Given the description of an element on the screen output the (x, y) to click on. 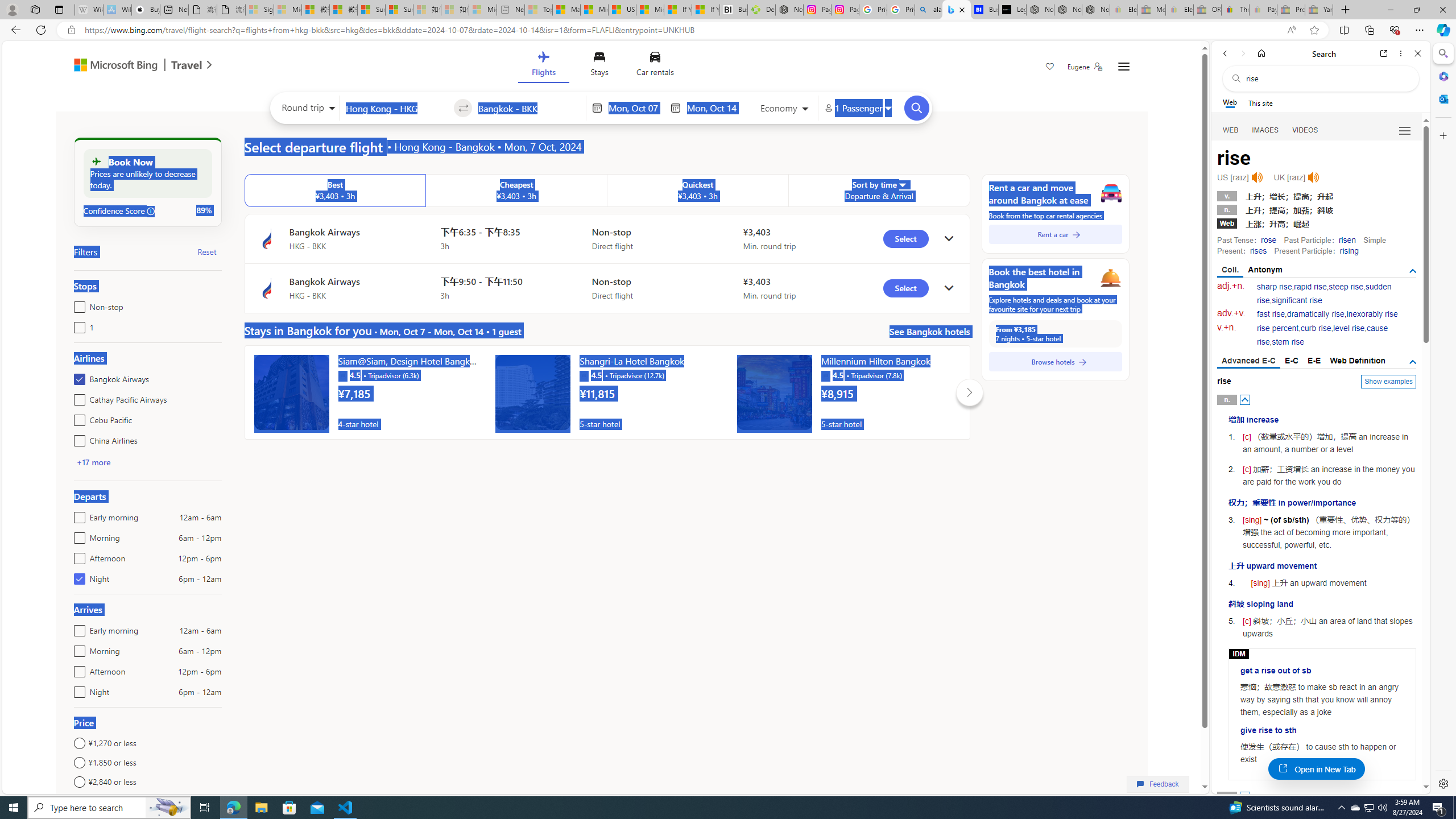
Coll. (1230, 270)
Select trip type (305, 110)
steep rise (1345, 286)
US Heat Deaths Soared To Record High Last Year (621, 9)
Search Filter, IMAGES (1265, 129)
Cebu Pacific (76, 417)
Microsoft account | Account Checkup - Sleeping (483, 9)
sharp rise (1274, 286)
Save (1049, 67)
cause rise (1322, 335)
